Given the description of an element on the screen output the (x, y) to click on. 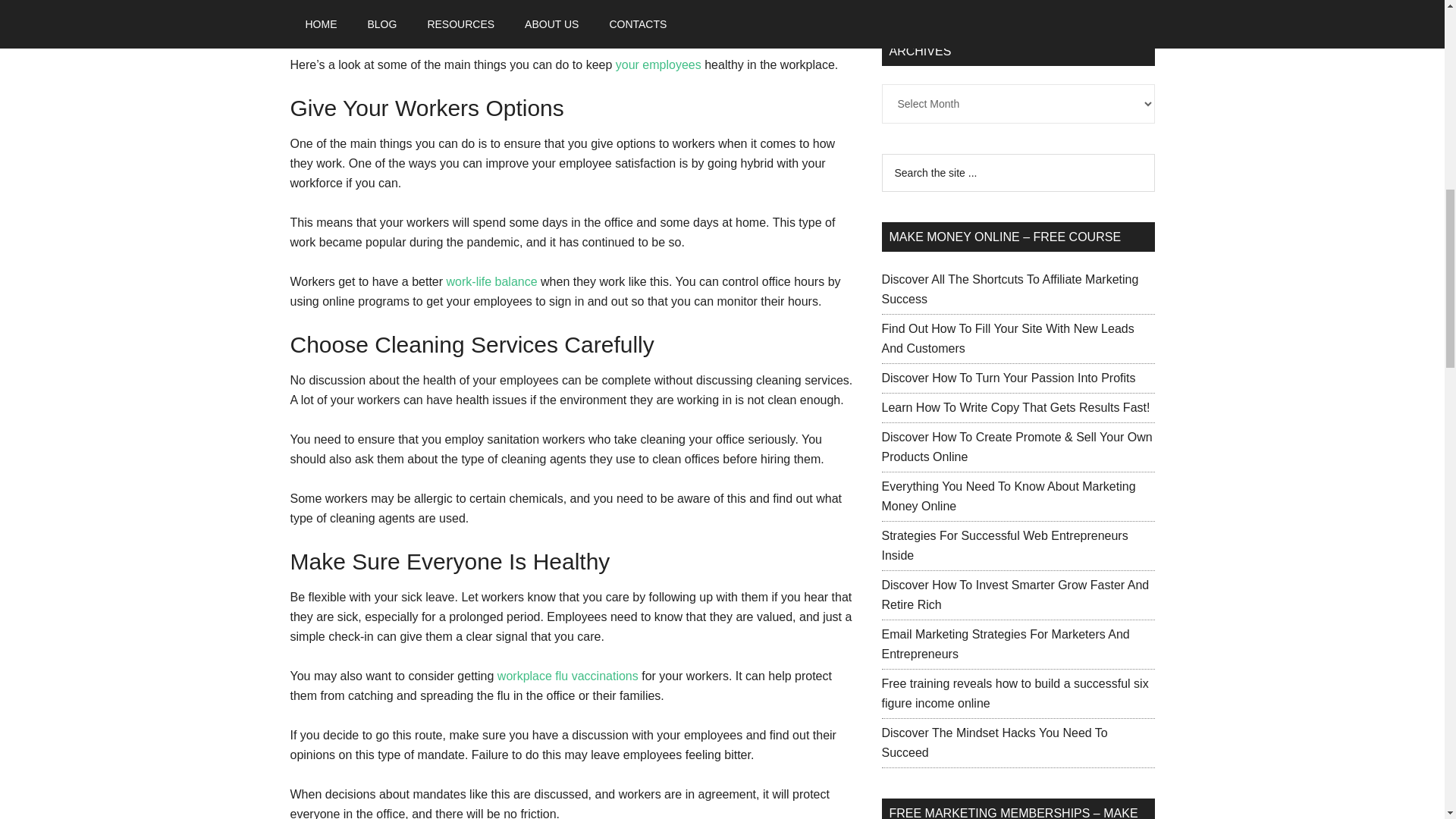
your employees (658, 64)
Keeping your employees healthy (377, 6)
workplace flu vaccinations (568, 675)
work-life balance (491, 281)
